Given the description of an element on the screen output the (x, y) to click on. 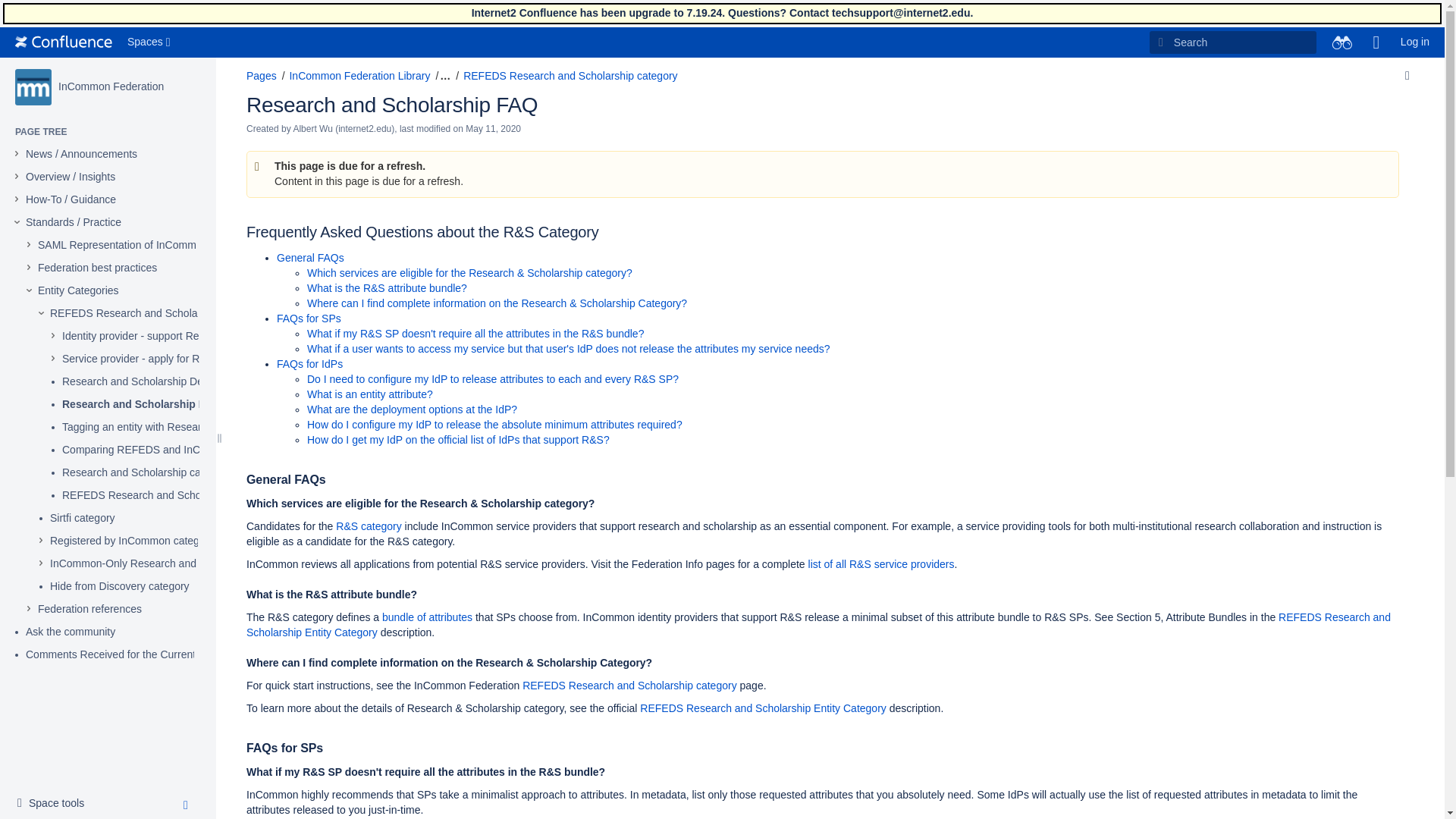
Internet2 Wiki (63, 42)
Entity Categories (78, 290)
InCommon Federation (110, 86)
Federation best practices (97, 268)
Spaces (149, 42)
Help (1376, 42)
Research and Scholarship Deployment Considerations (191, 381)
REFEDS Research and Scholarship category (156, 313)
InCommon Federation (32, 86)
Research and Scholarship FAQ (141, 404)
ScriptRunner Enhanced Search (1341, 42)
SAML Representation of InCommon Metadata (146, 245)
Log in (1415, 42)
InCommon Federation (110, 86)
